Given the description of an element on the screen output the (x, y) to click on. 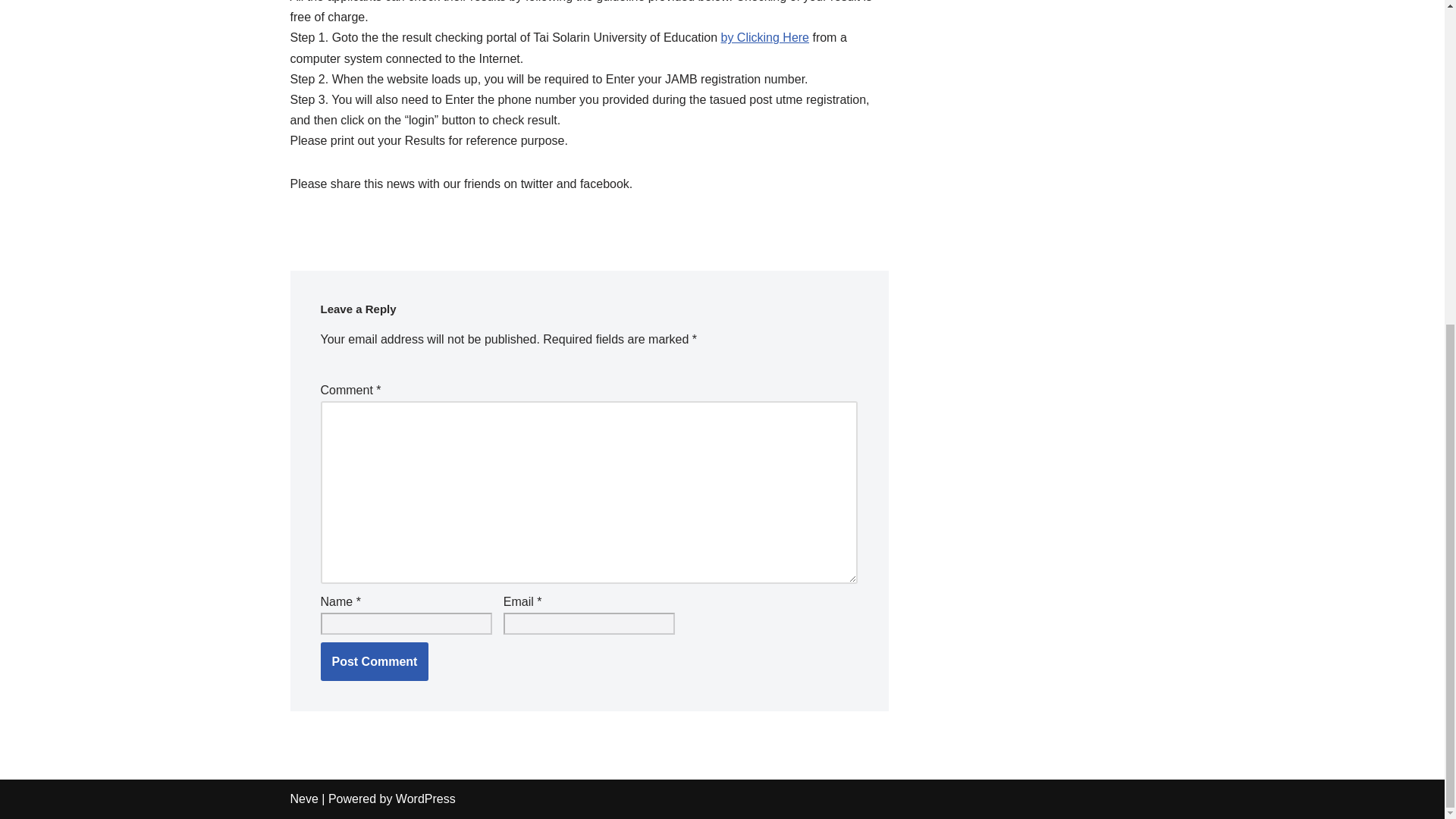
Post Comment (374, 661)
